Given the description of an element on the screen output the (x, y) to click on. 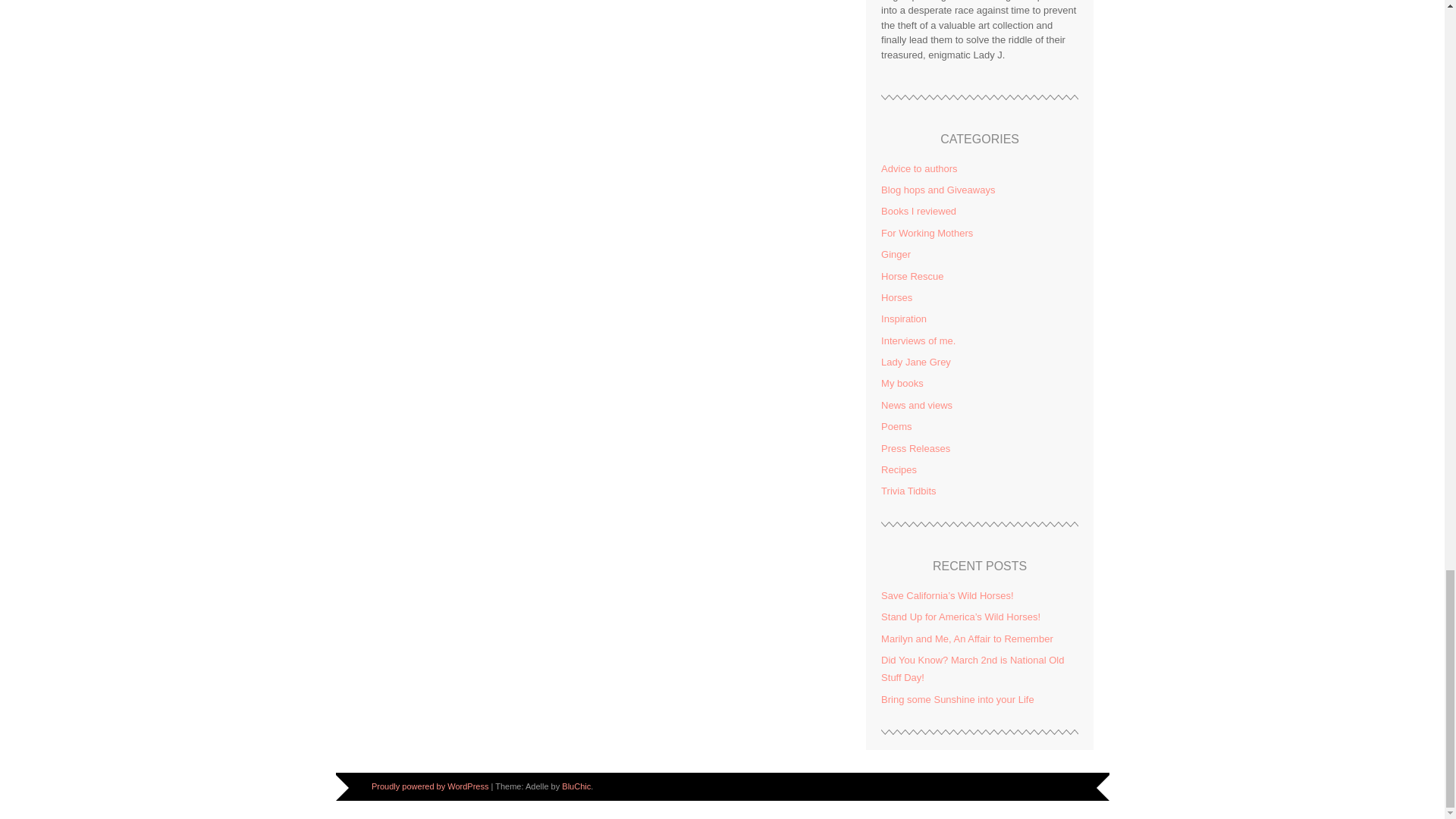
Horse Rescue (911, 276)
Books I reviewed (918, 211)
For Working Mothers (926, 233)
A Semantic Personal Publishing Platform (429, 786)
Blog hops and Giveaways (937, 189)
Inspiration (903, 318)
Advice to authors (918, 168)
Horses (896, 297)
Ginger (895, 254)
